Given the description of an element on the screen output the (x, y) to click on. 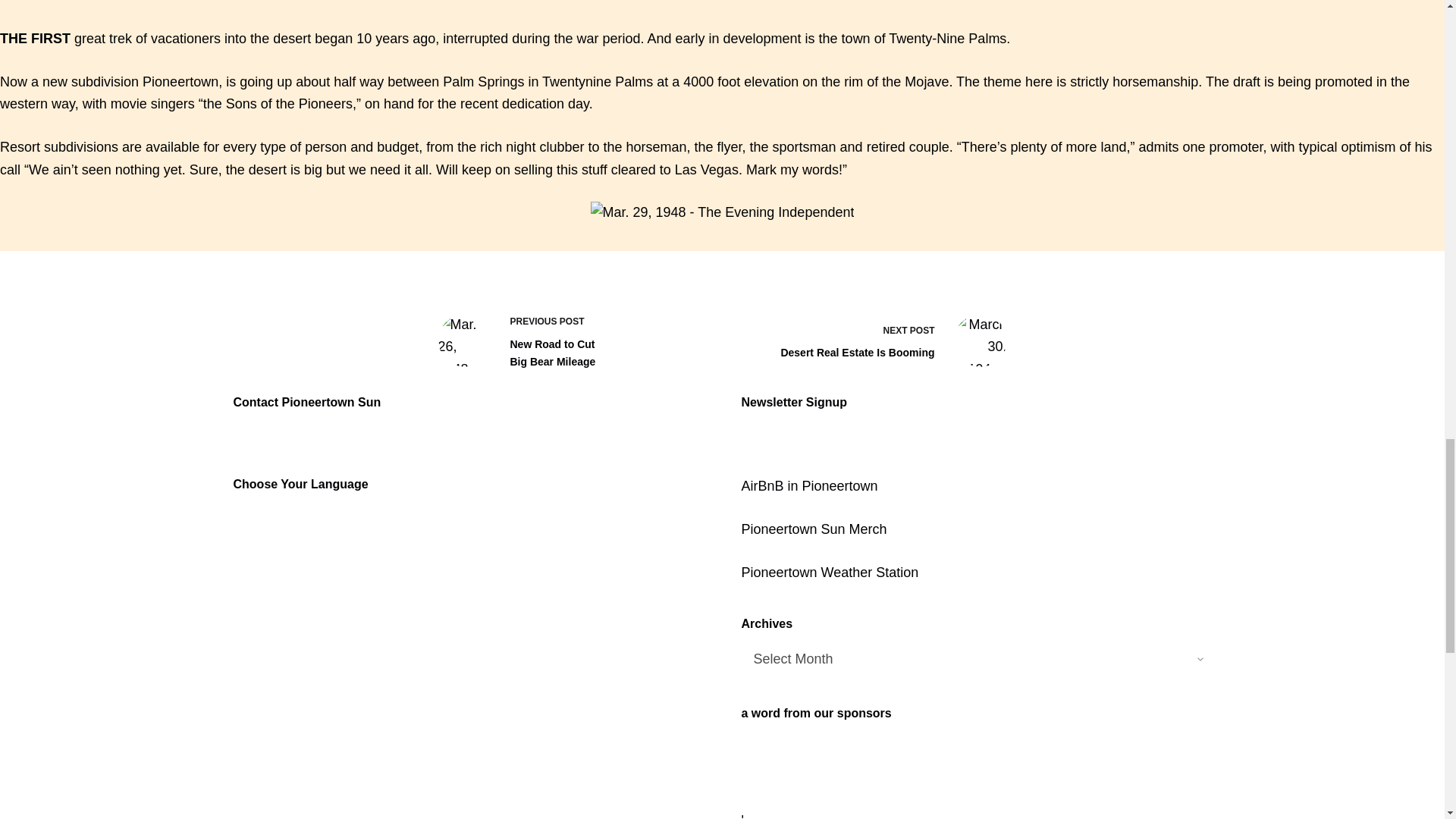
Pioneertown Sun Merch (813, 529)
Pioneertown Weather Station (569, 340)
AirBnB in Pioneertown (829, 572)
